Given the description of an element on the screen output the (x, y) to click on. 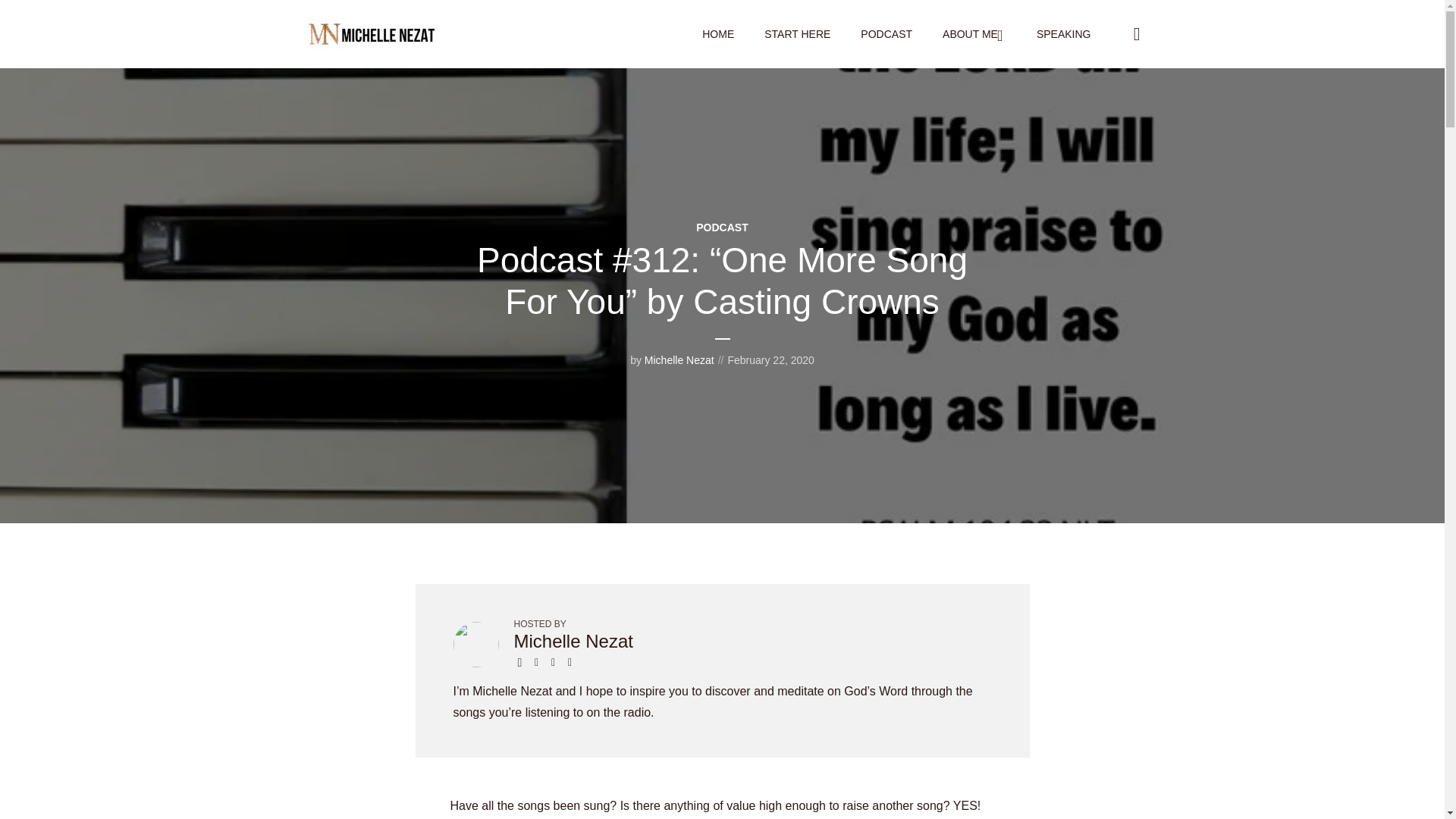
PODCAST (721, 227)
SPEAKING (1063, 34)
Michelle Nezat (573, 640)
Michelle Nezat (679, 359)
START HERE (796, 34)
PODCAST (886, 34)
ABOUT ME (974, 34)
